Given the description of an element on the screen output the (x, y) to click on. 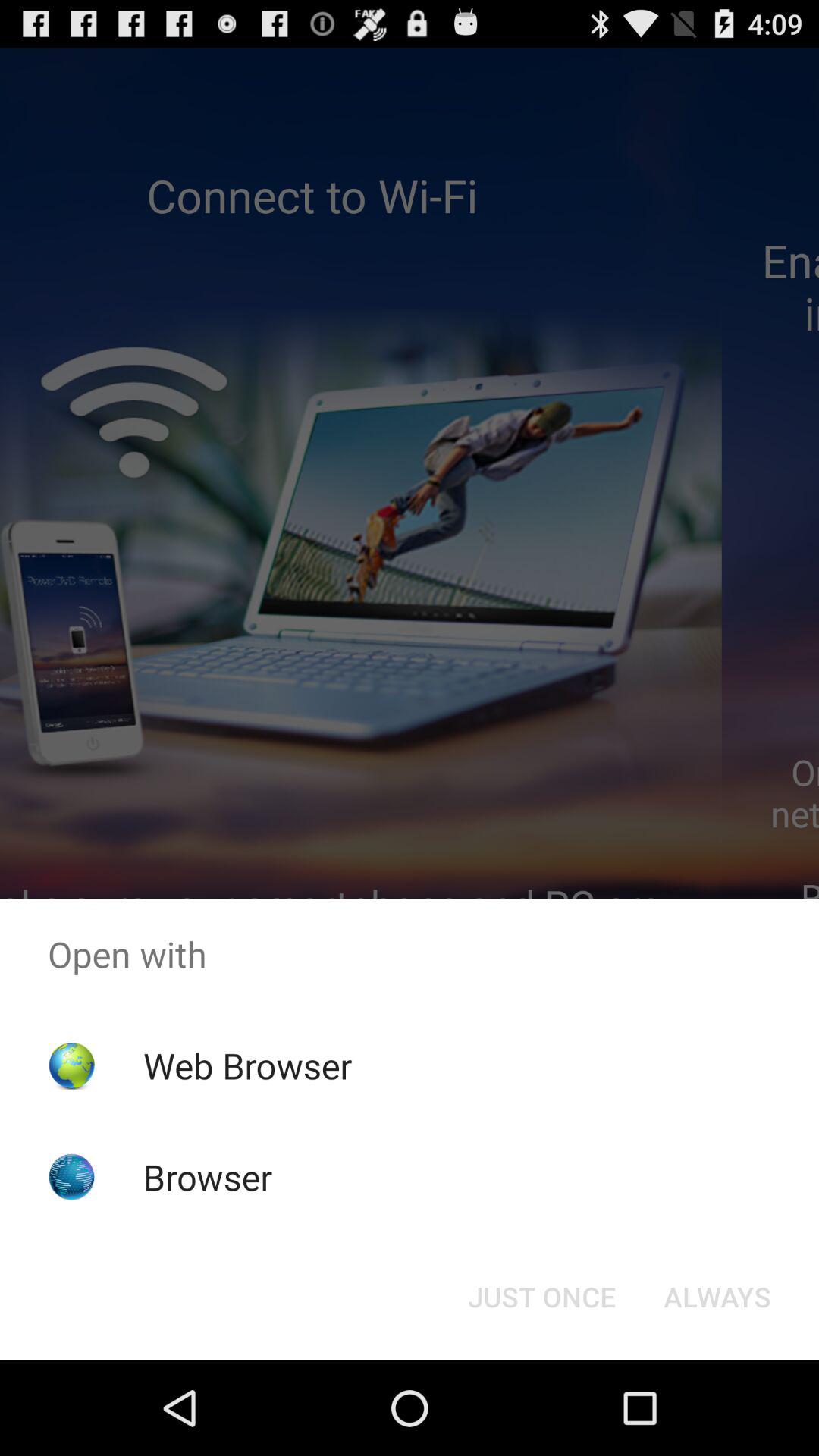
turn off always icon (717, 1296)
